Given the description of an element on the screen output the (x, y) to click on. 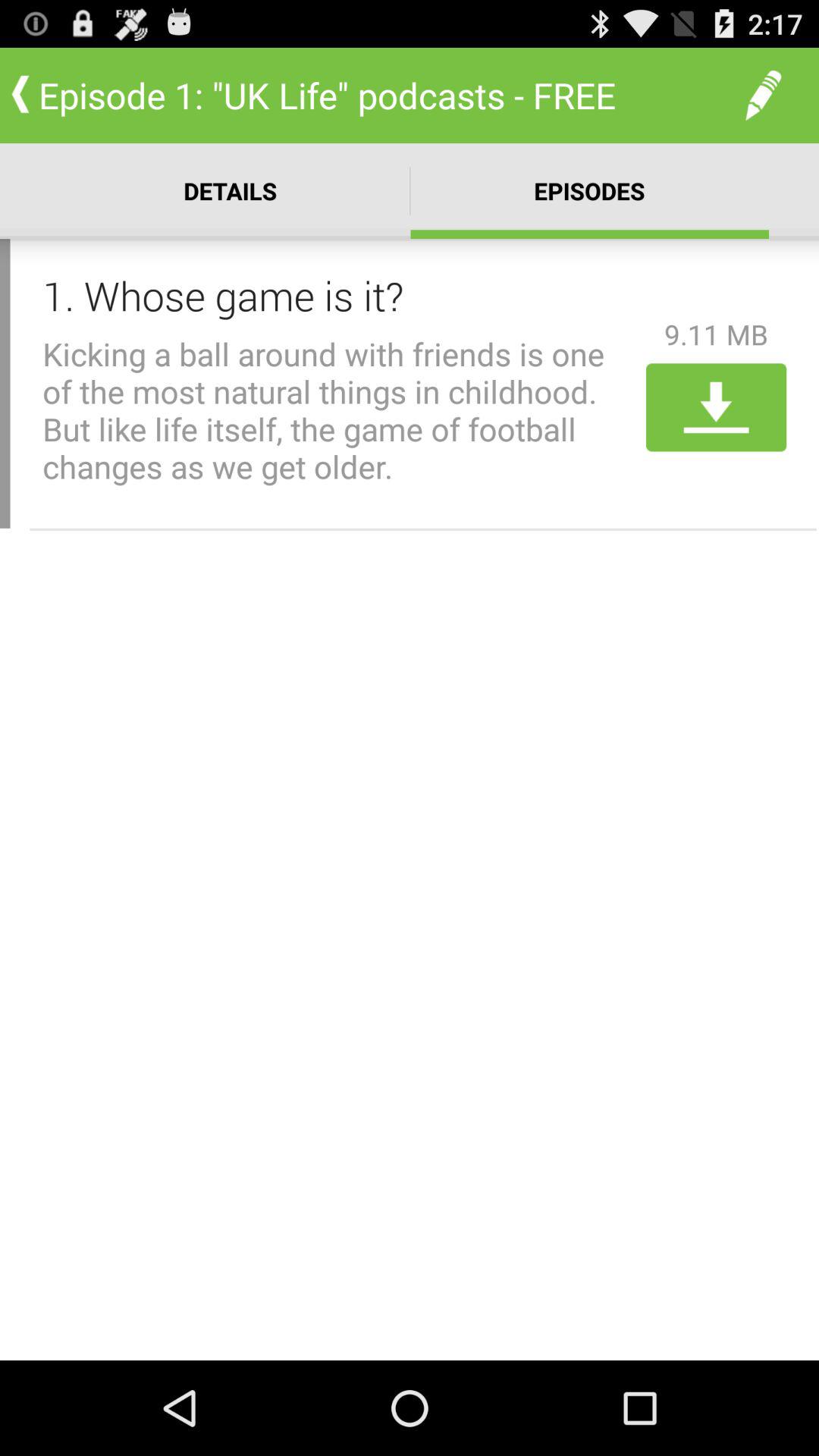
select item above the 9.11 mb item (763, 95)
